Given the description of an element on the screen output the (x, y) to click on. 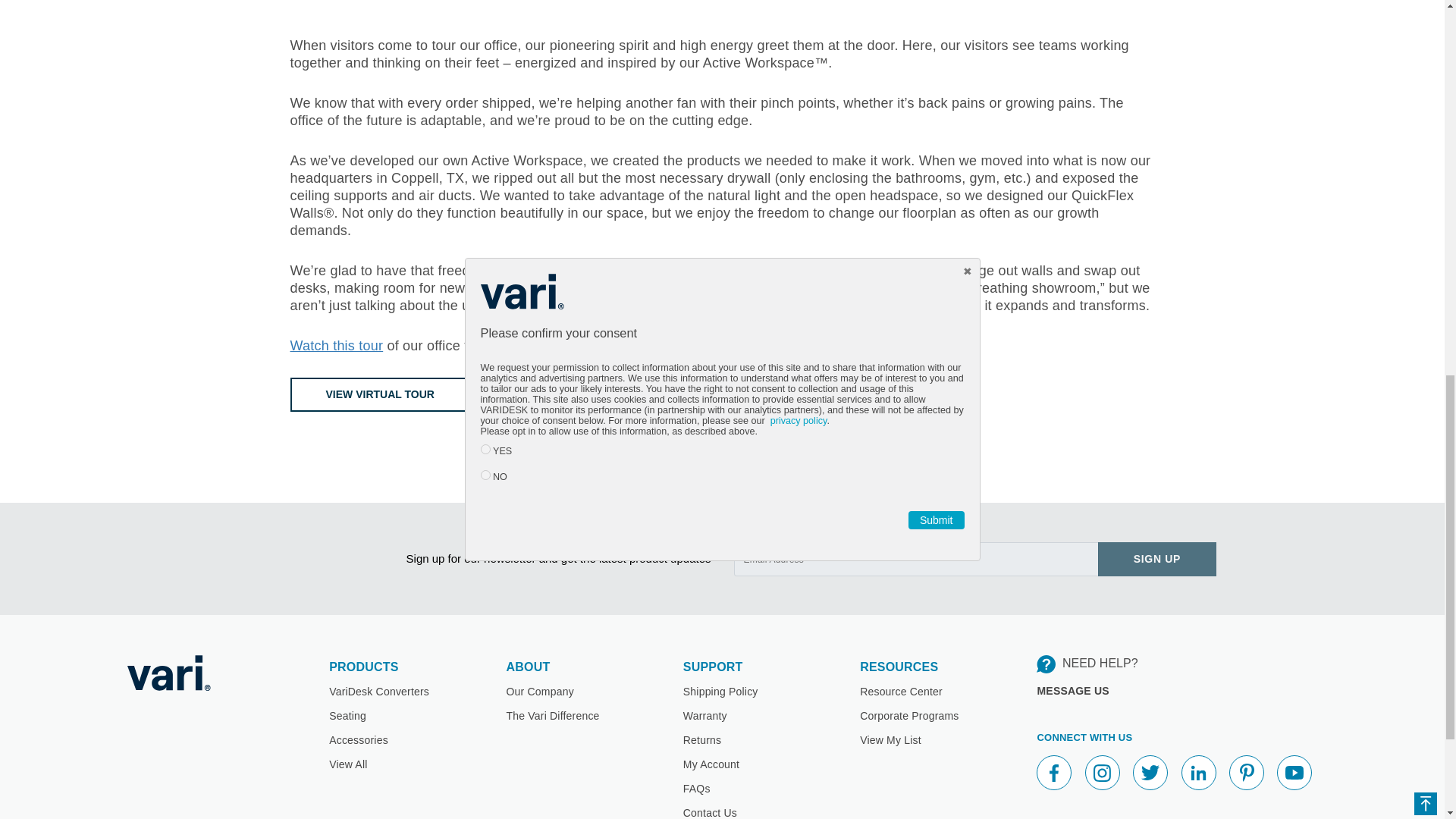
Go to Seating (347, 715)
Go to VariDesk Converters (379, 691)
Go to Accessories (358, 739)
Go to Vari Difference (551, 715)
Go to Shipping Policy (720, 691)
Go to Warranty (704, 715)
Go to Our Company (539, 691)
Go to View All (347, 764)
